Given the description of an element on the screen output the (x, y) to click on. 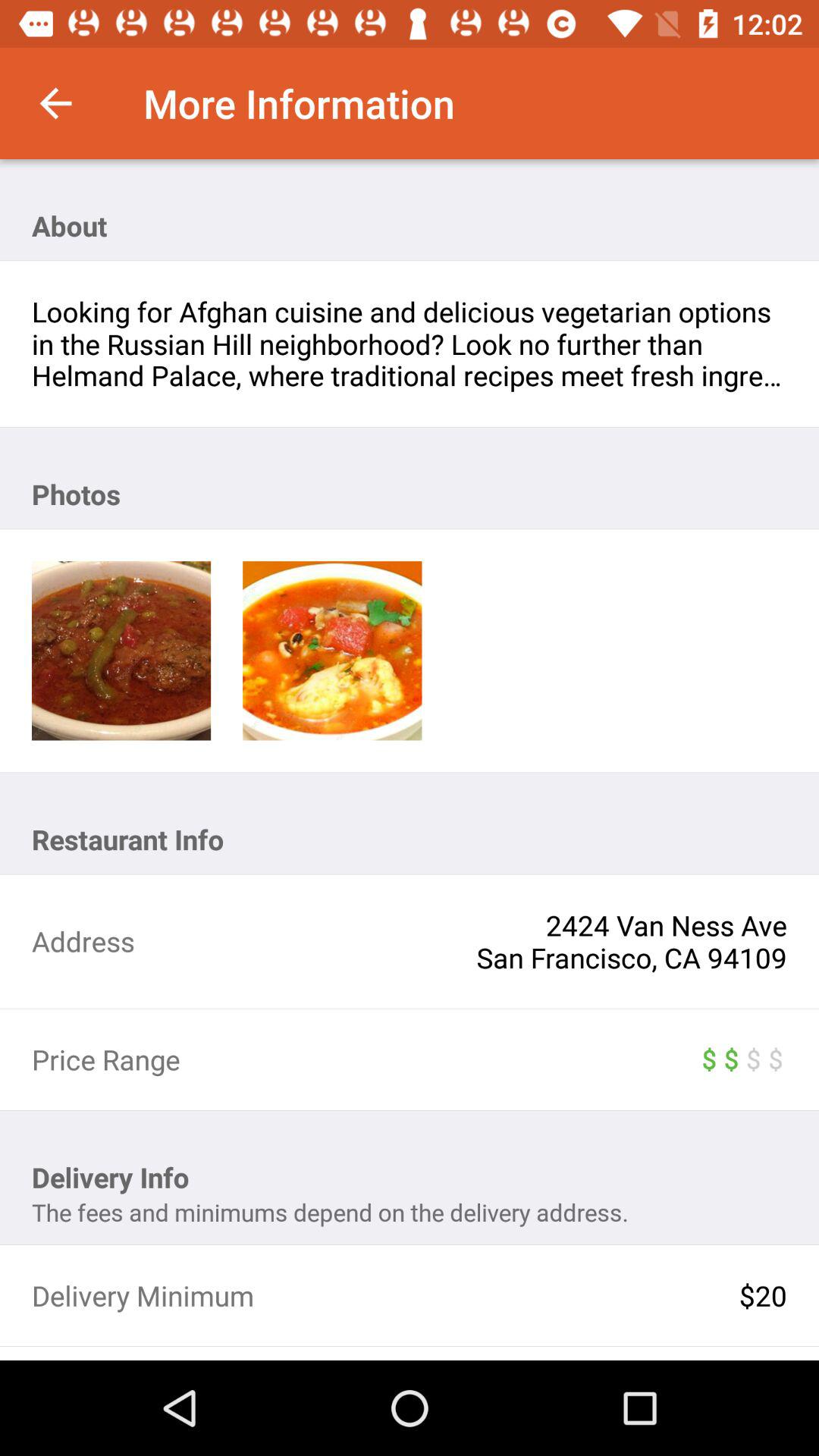
tap item below about item (409, 344)
